Given the description of an element on the screen output the (x, y) to click on. 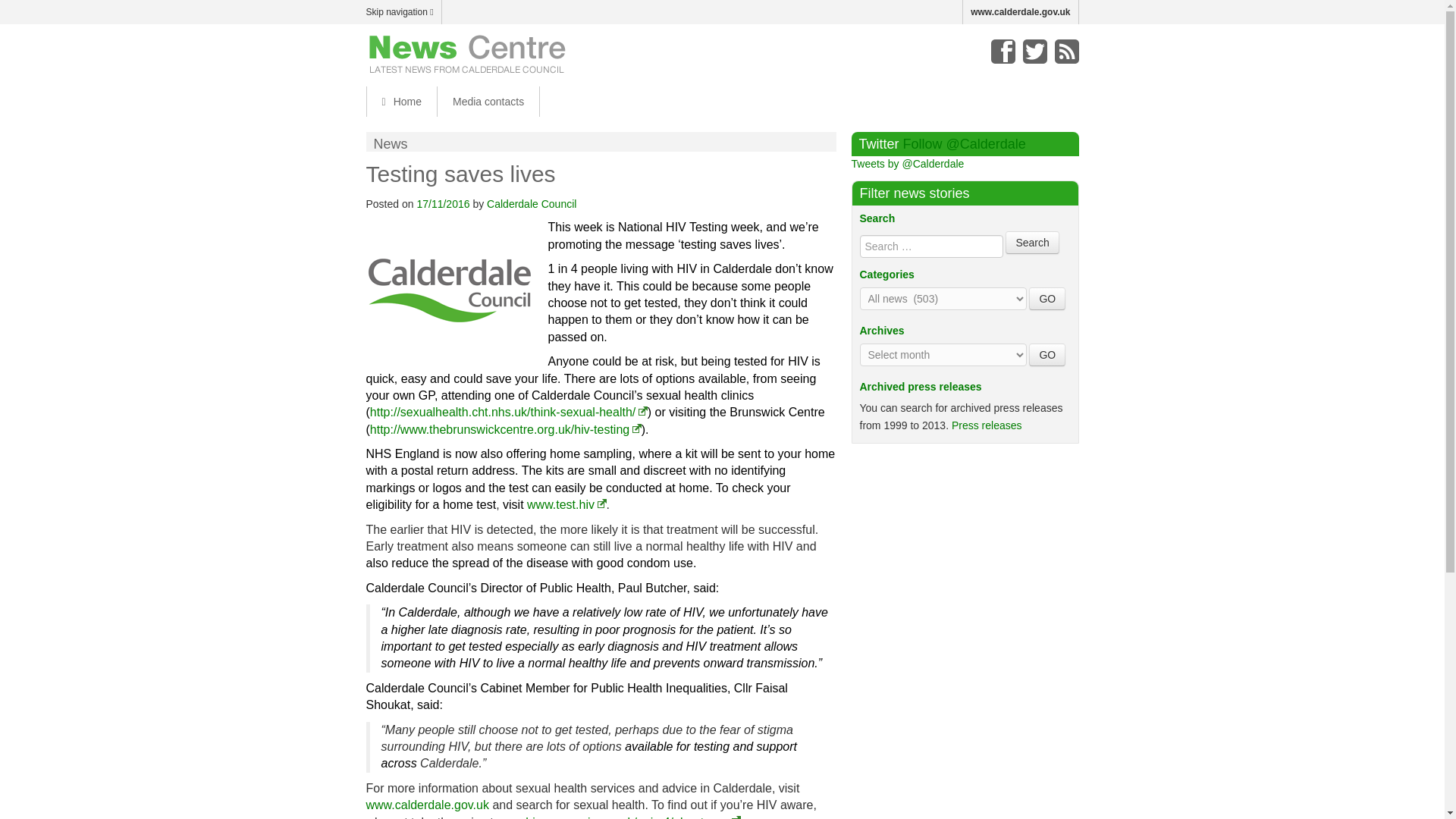
GO (1047, 298)
Search (1032, 241)
GO (1047, 354)
9:30 am (442, 203)
Twitter (1034, 51)
View all posts by Calderdale Council (531, 203)
Calderdale Council (531, 203)
GO (1047, 298)
Facebook (1002, 51)
www.calderdale.gov.uk (1020, 12)
